Given the description of an element on the screen output the (x, y) to click on. 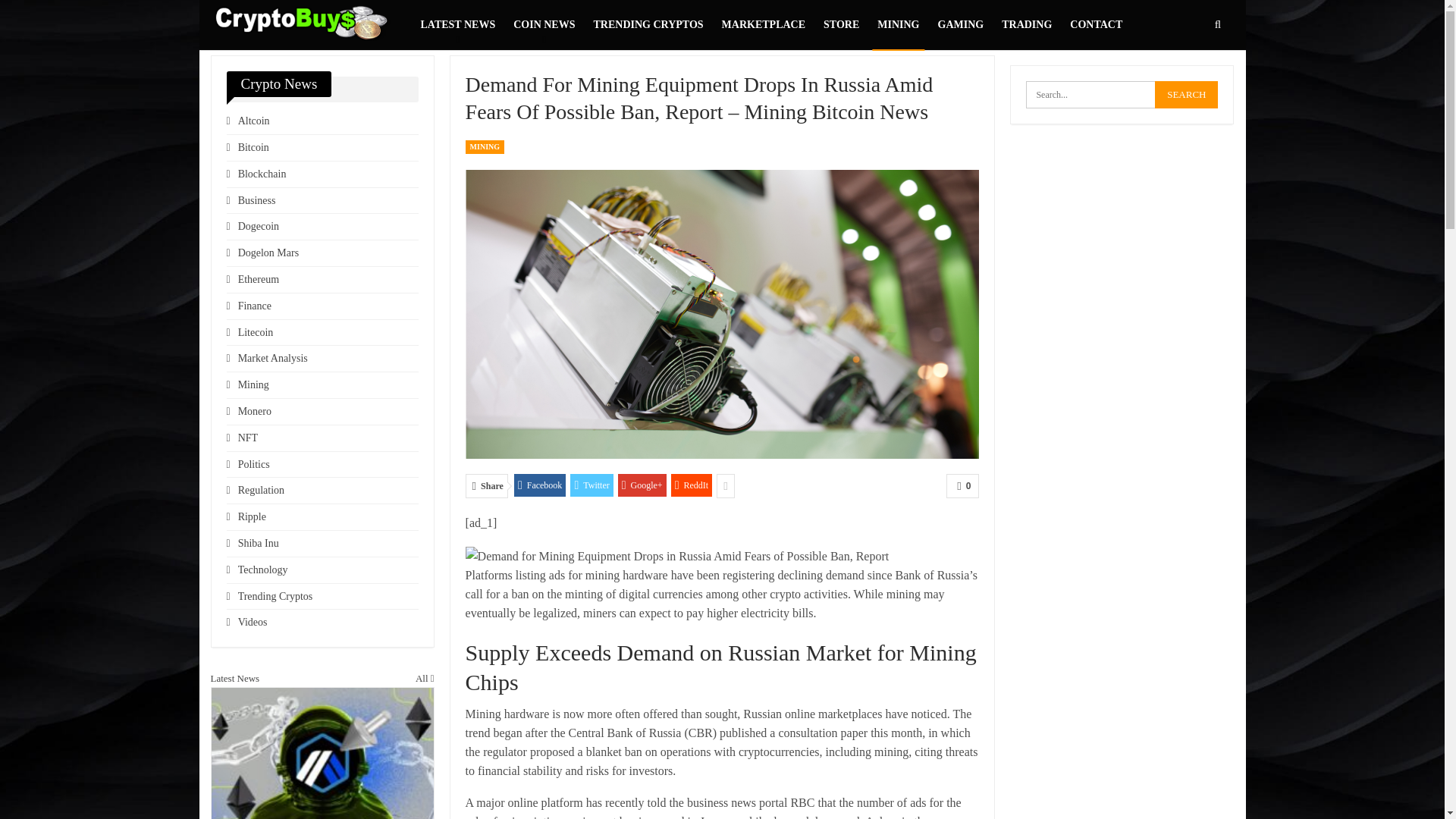
LATEST NEWS (457, 24)
Search (1185, 94)
Search (1185, 94)
COIN NEWS (543, 24)
